Given the description of an element on the screen output the (x, y) to click on. 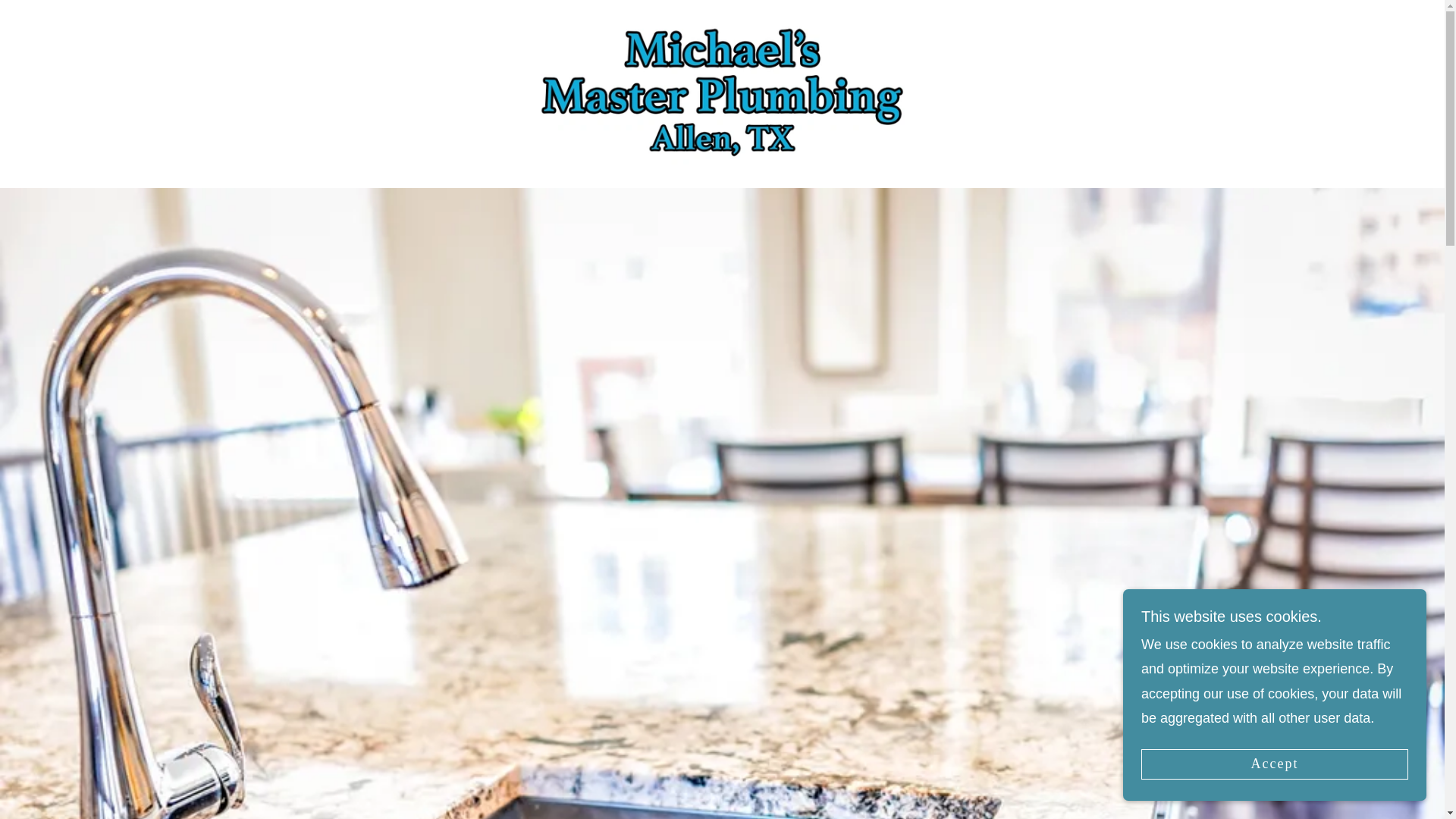
Accept (1274, 764)
Michael's Master Plumbing (721, 92)
